Given the description of an element on the screen output the (x, y) to click on. 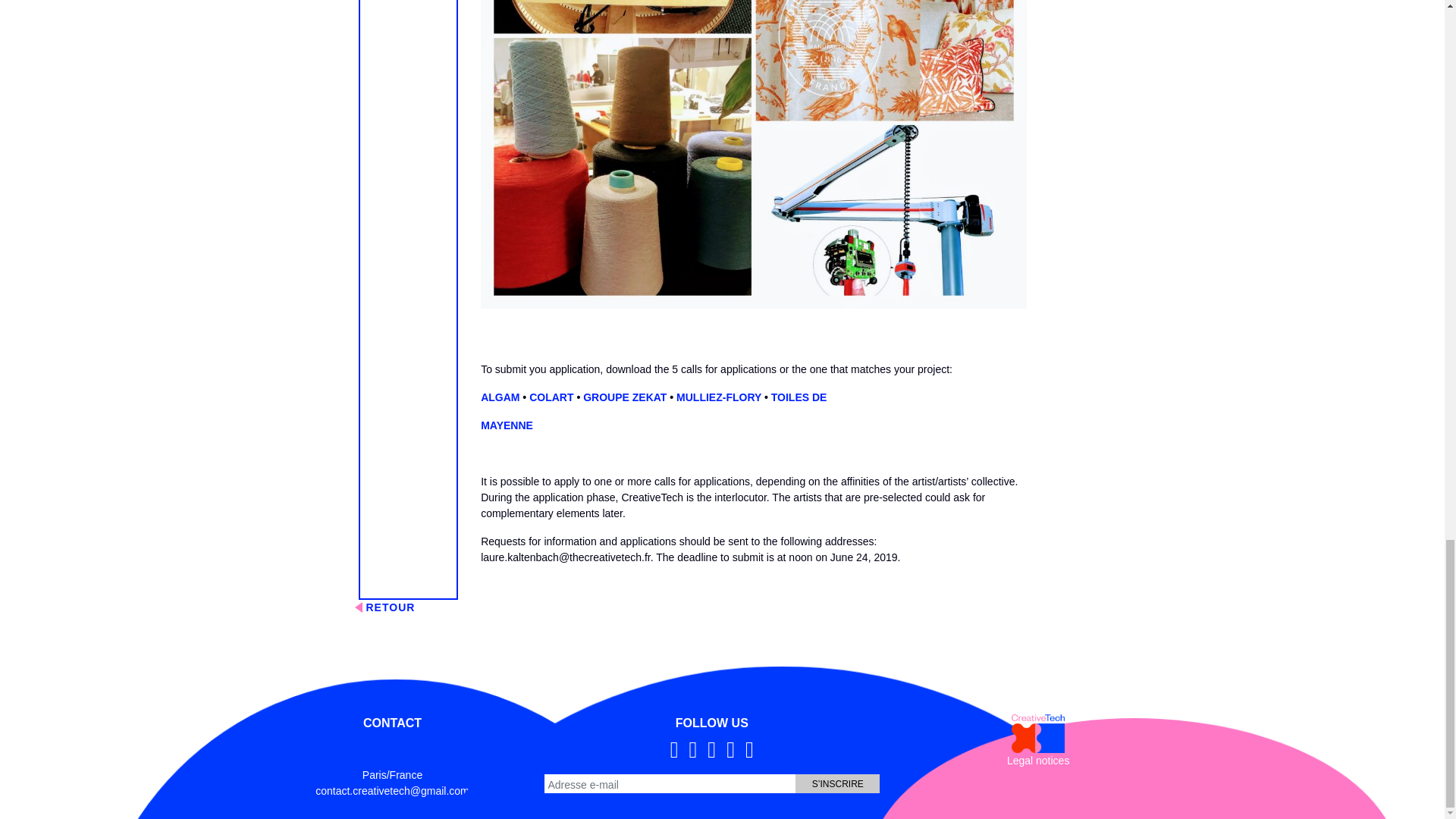
MAYENNE (506, 425)
TOILES DE (799, 397)
MULLIEZ-FLORY (719, 397)
RETOUR (722, 607)
GROUPE ZEKAT (624, 397)
ALGAM (499, 397)
Legal notices (1038, 760)
COLART (551, 397)
